Given the description of an element on the screen output the (x, y) to click on. 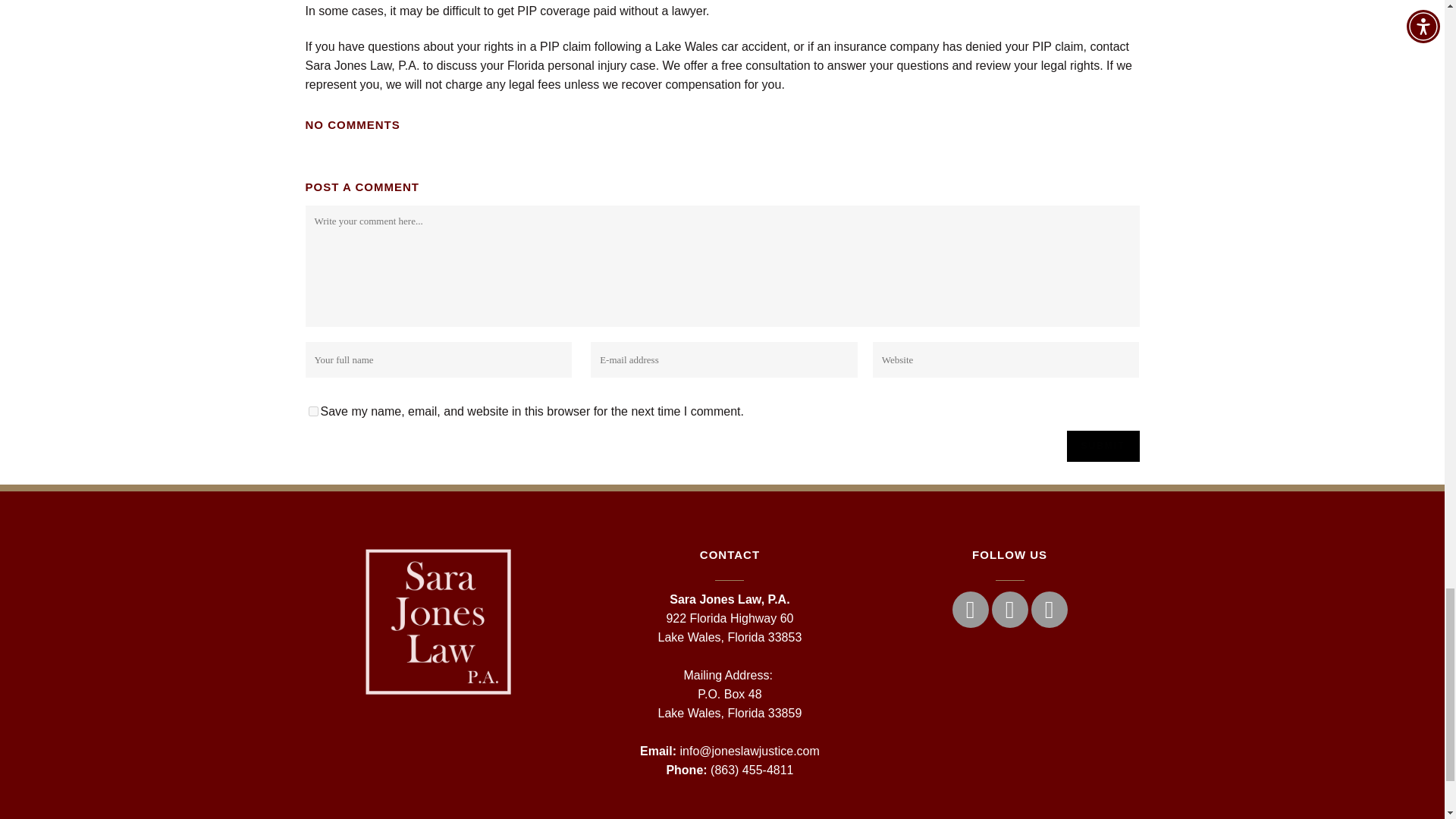
Submit (1101, 445)
Facebook (970, 609)
Twitter (1009, 609)
Submit (1101, 445)
yes (312, 411)
LinkedIn (1048, 609)
